Given the description of an element on the screen output the (x, y) to click on. 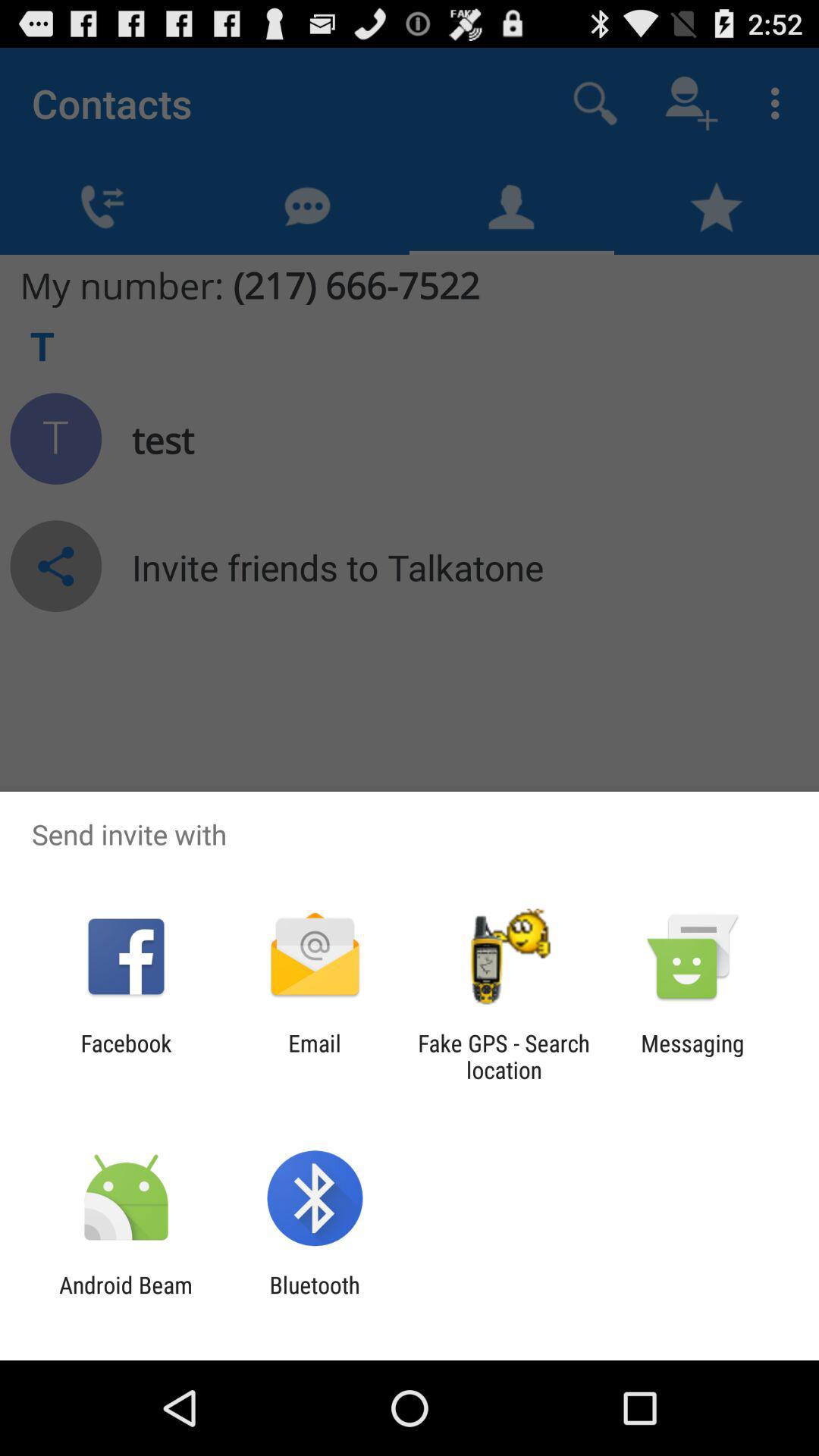
turn on item next to the email app (125, 1056)
